Given the description of an element on the screen output the (x, y) to click on. 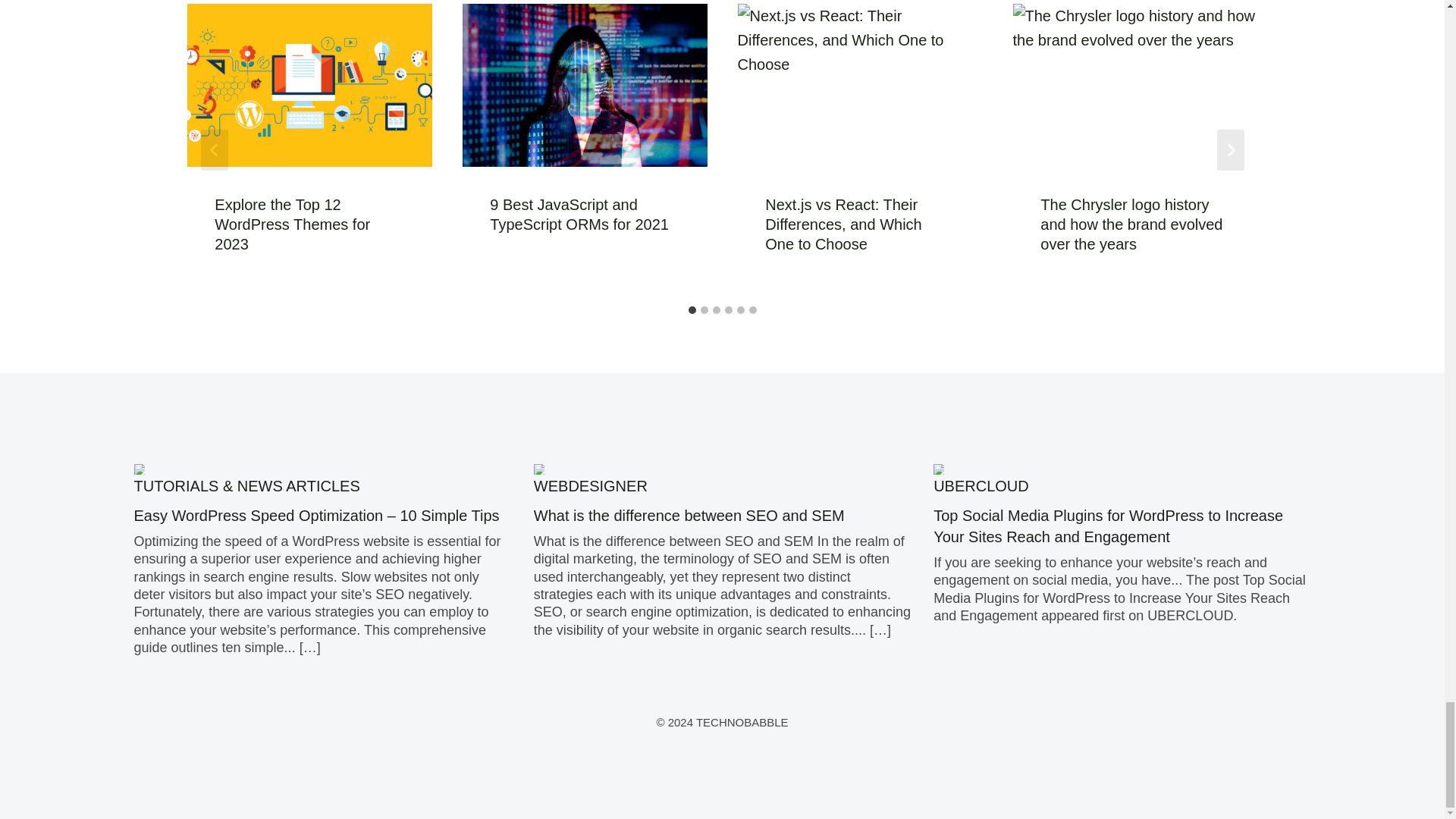
Explore the Top 12 WordPress Themes for 2023 (291, 224)
